Given the description of an element on the screen output the (x, y) to click on. 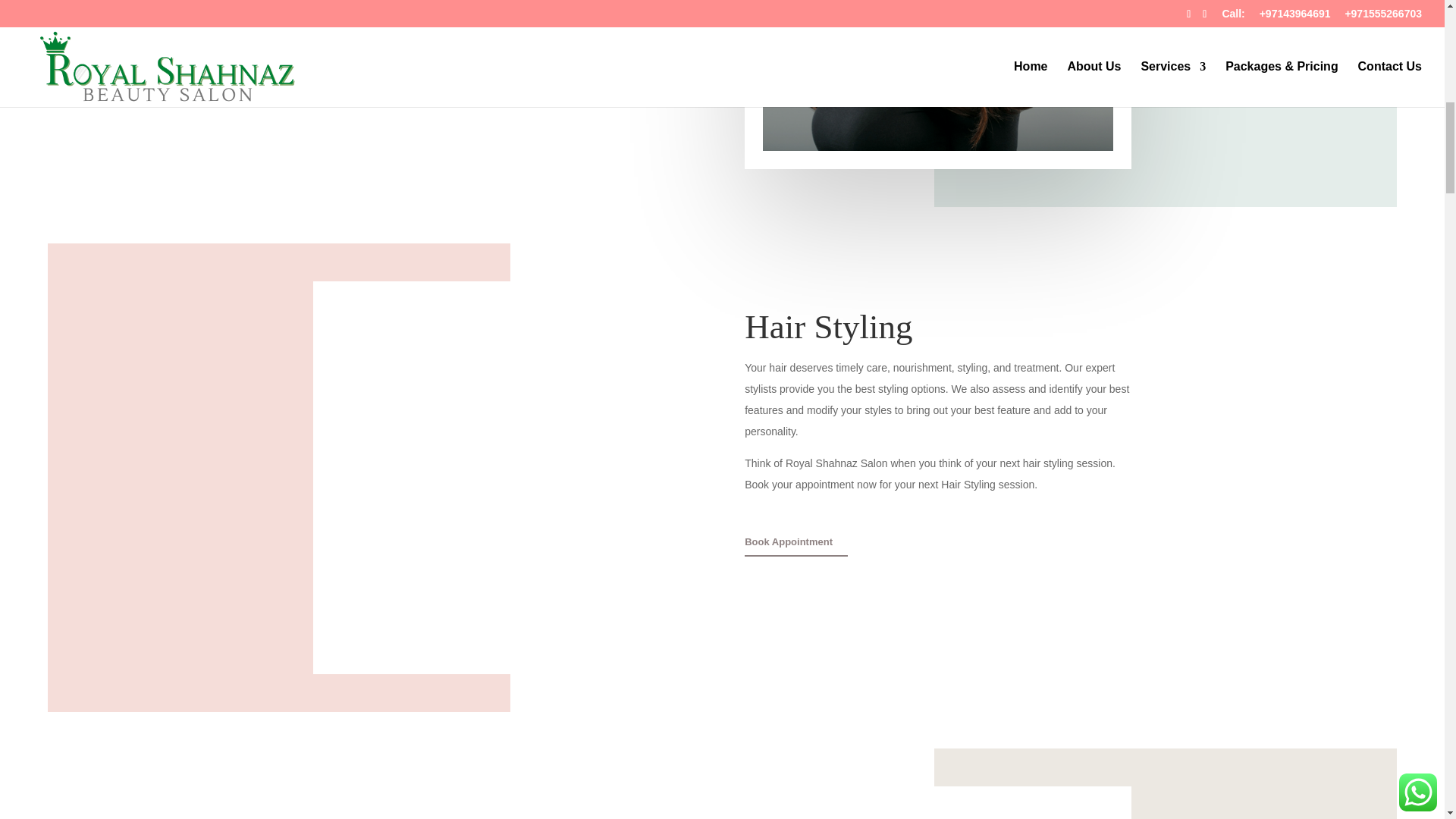
Haircut (937, 75)
Book Appointment (795, 544)
Book Appointment (363, 3)
